Given the description of an element on the screen output the (x, y) to click on. 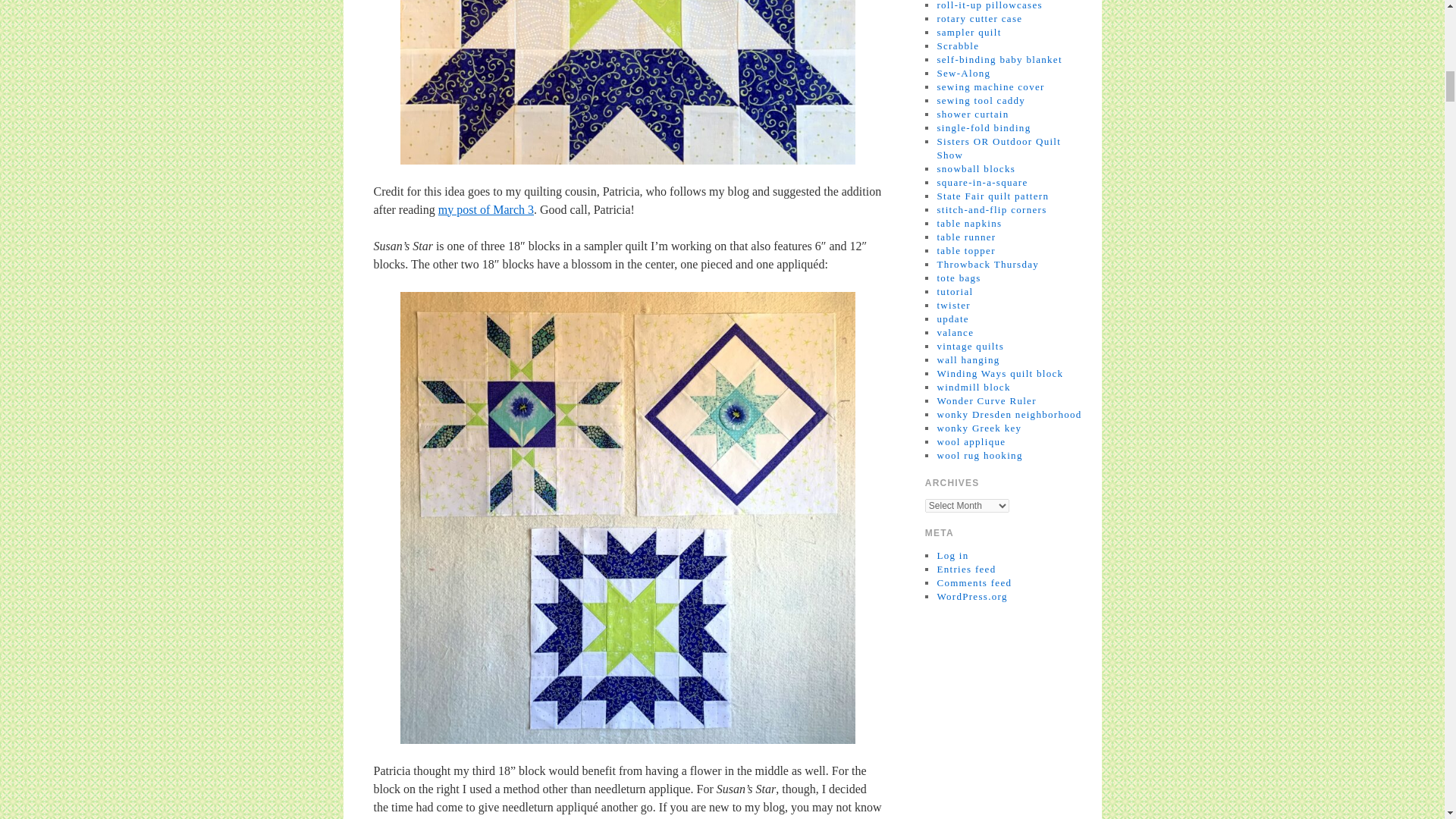
my post of March 3 (486, 209)
